Given the description of an element on the screen output the (x, y) to click on. 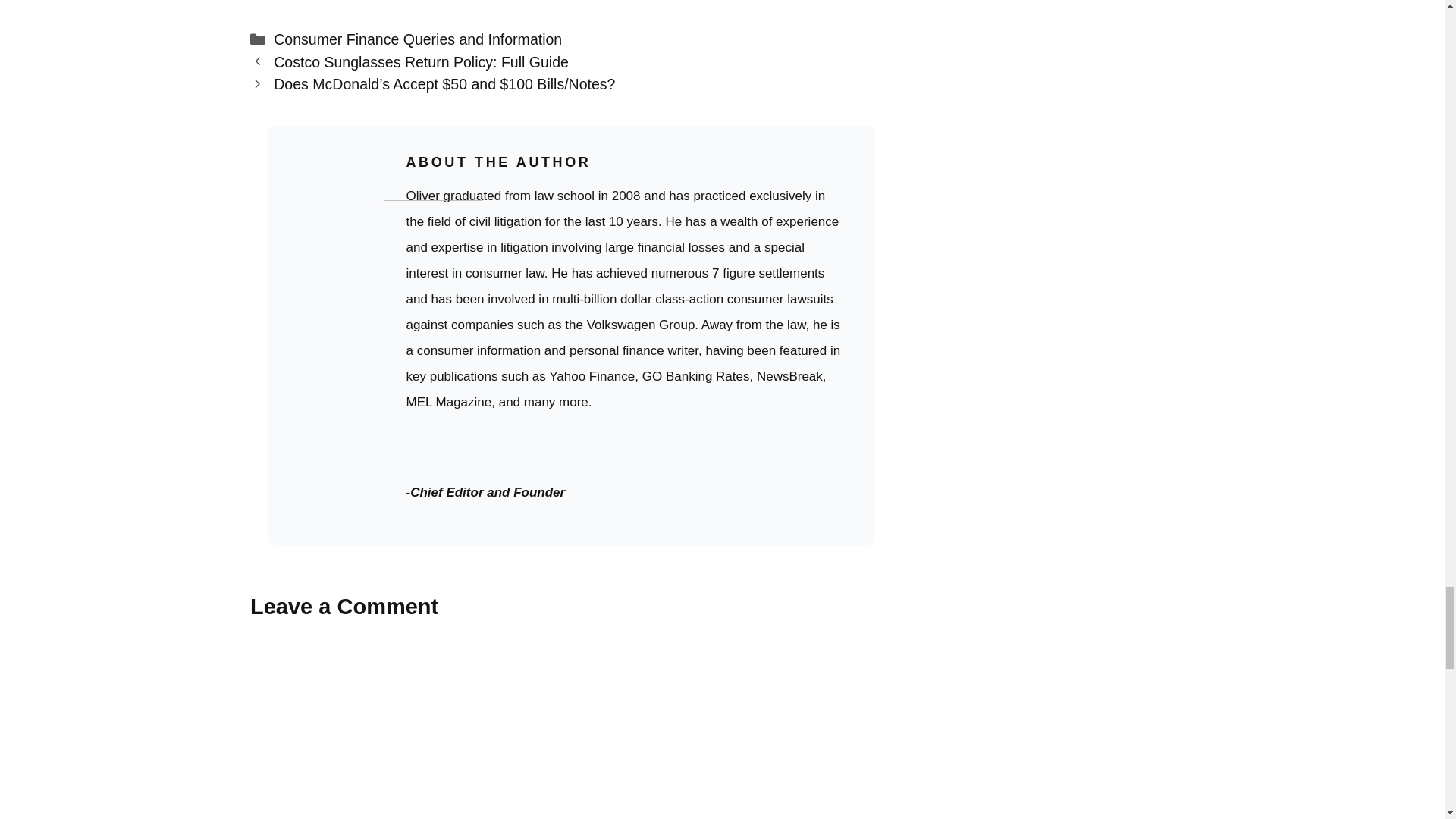
Previous (421, 62)
Costco Sunglasses Return Policy: Full Guide (421, 62)
Consumer Finance Queries and Information (417, 39)
Next (443, 84)
